Given the description of an element on the screen output the (x, y) to click on. 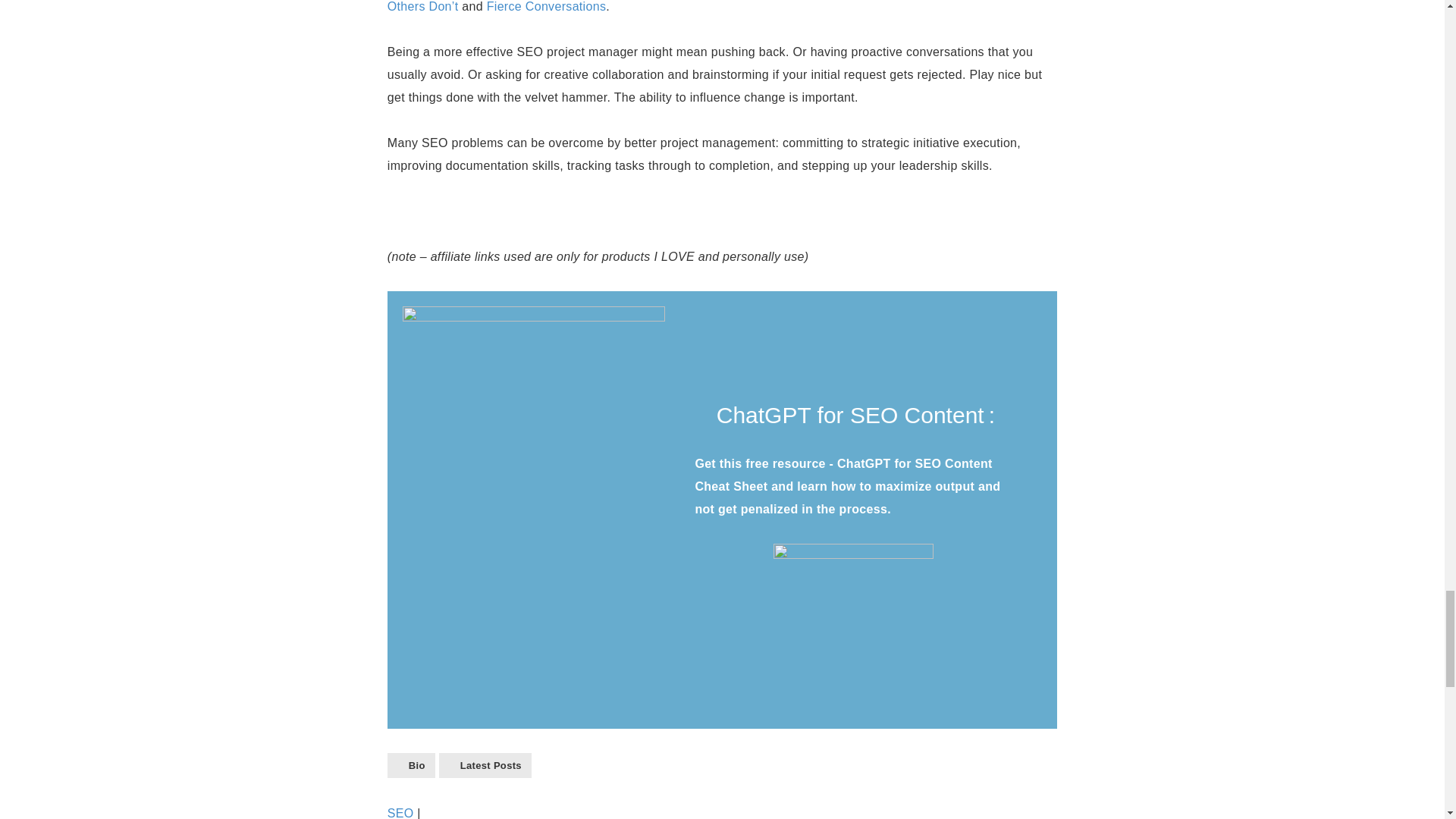
Fierce Conversations (546, 6)
Bio (411, 765)
SEO (400, 812)
Latest Posts (485, 765)
